Given the description of an element on the screen output the (x, y) to click on. 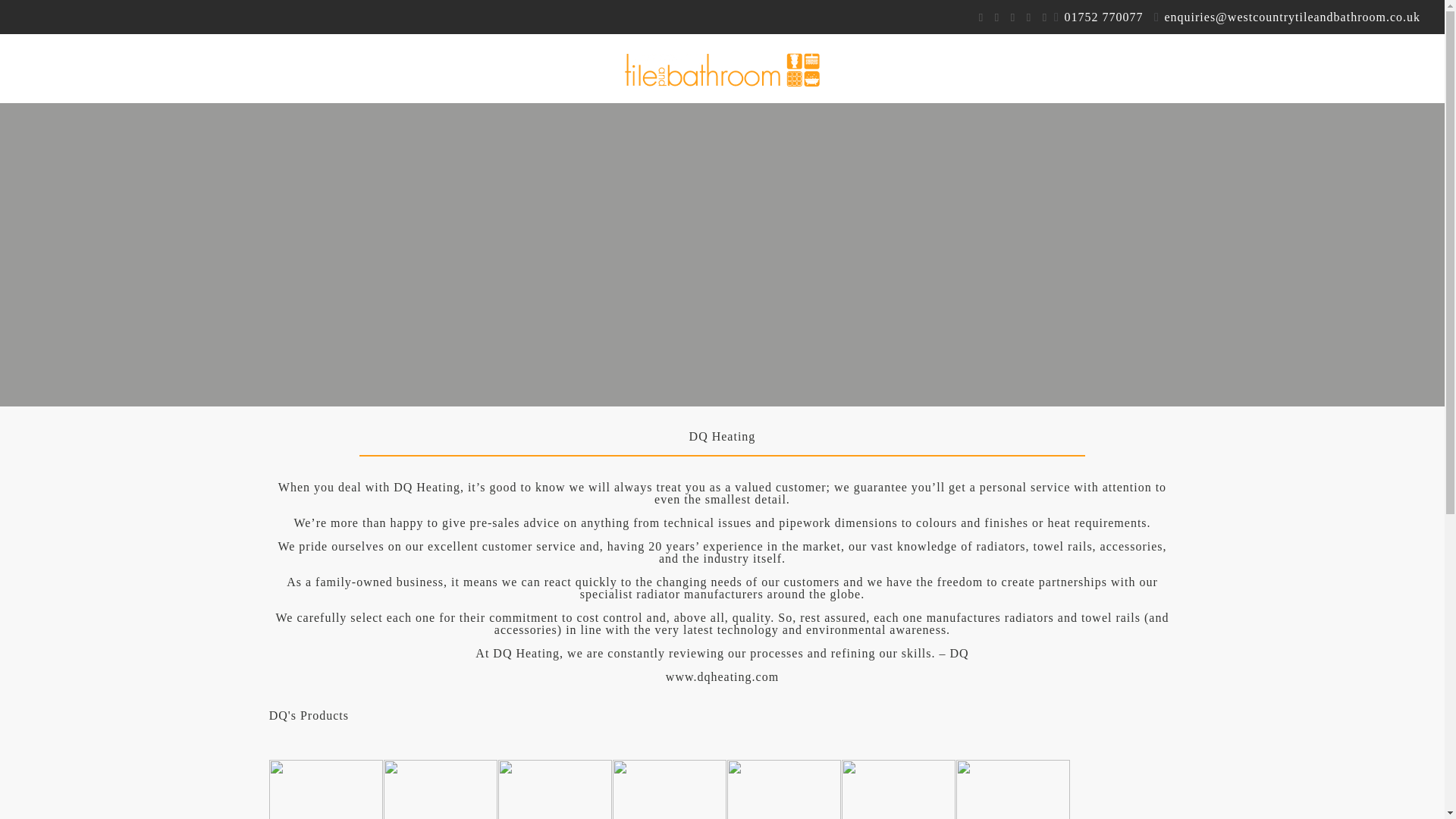
YouTube (997, 17)
Meet The Team (1002, 68)
Our Story (172, 68)
LinkedIn (1012, 17)
Our Brands (1092, 68)
Reviews (1218, 68)
Contact Us (1292, 68)
Pinterest (1028, 17)
Our Projects (334, 68)
Our Showroom (422, 68)
Instagram (1044, 17)
01752 770077 (1103, 16)
Facebook (981, 17)
Our Service (249, 68)
